Given the description of an element on the screen output the (x, y) to click on. 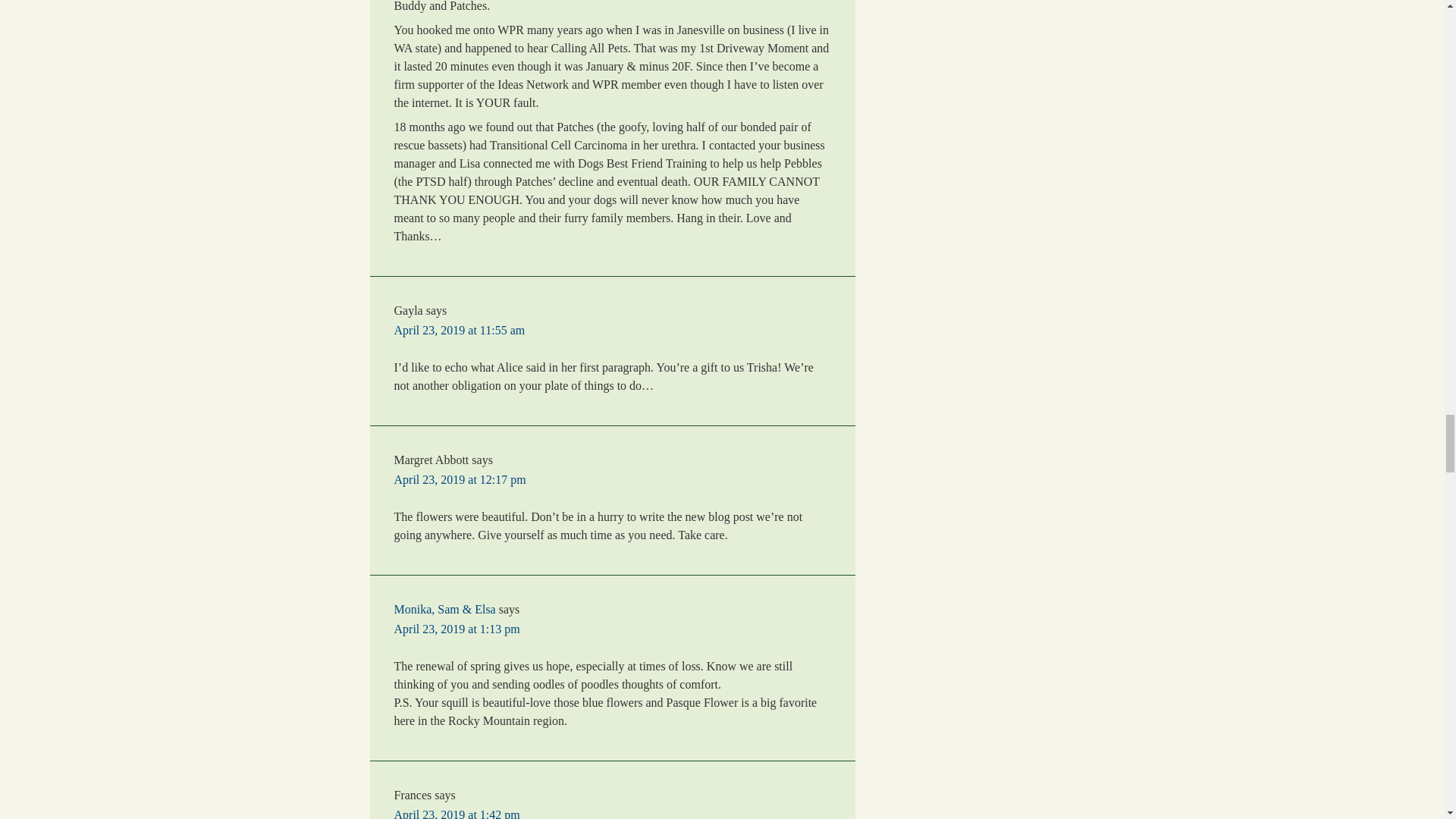
April 23, 2019 at 12:17 pm (459, 479)
April 23, 2019 at 11:55 am (459, 329)
April 23, 2019 at 1:13 pm (456, 628)
